Given the description of an element on the screen output the (x, y) to click on. 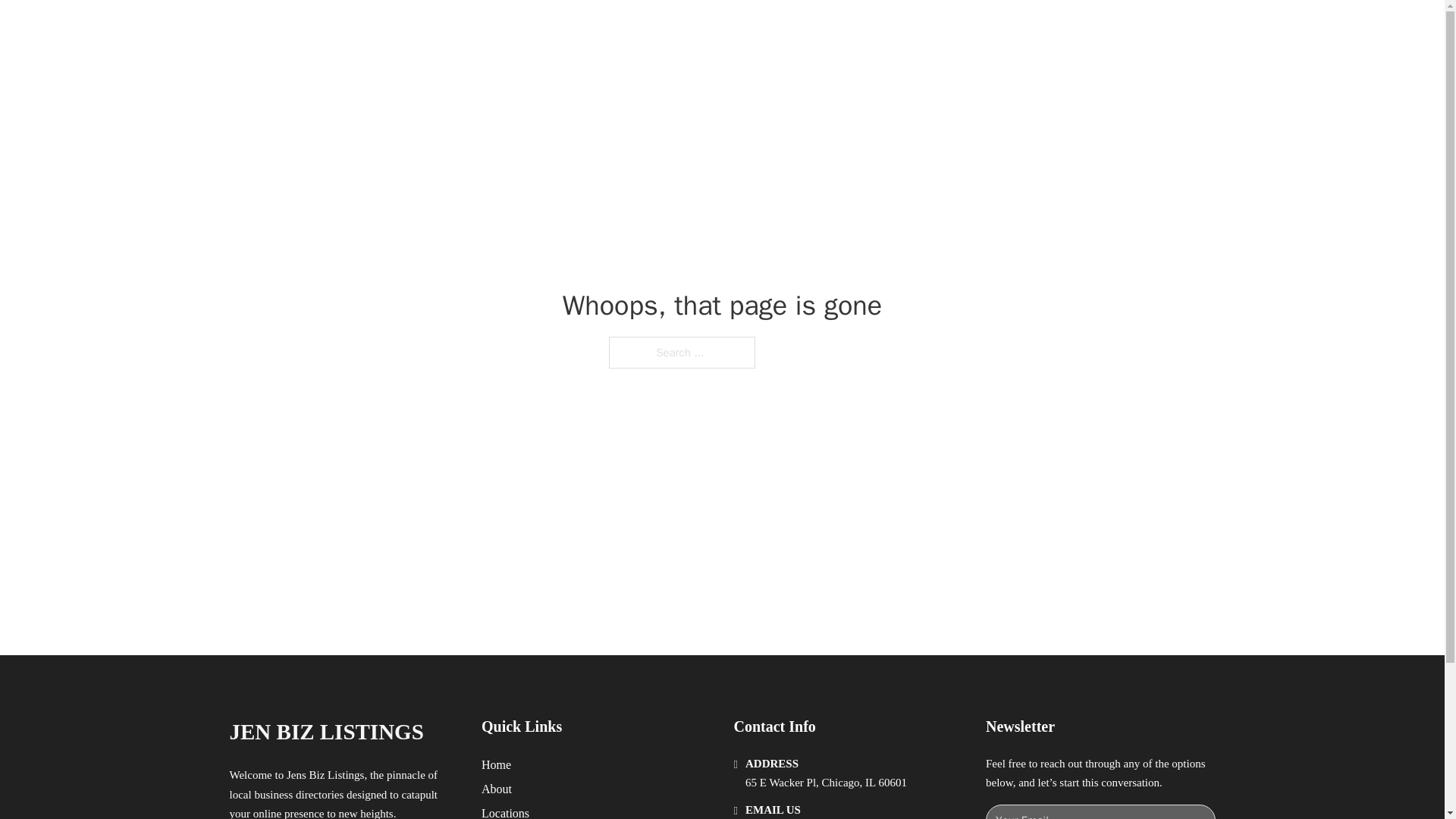
HOME (919, 29)
JEN BIZ LISTINGS (325, 732)
About (496, 788)
LOCATIONS (990, 29)
Locations (505, 811)
JENS BIZ LISTINGS (405, 28)
Home (496, 764)
